Given the description of an element on the screen output the (x, y) to click on. 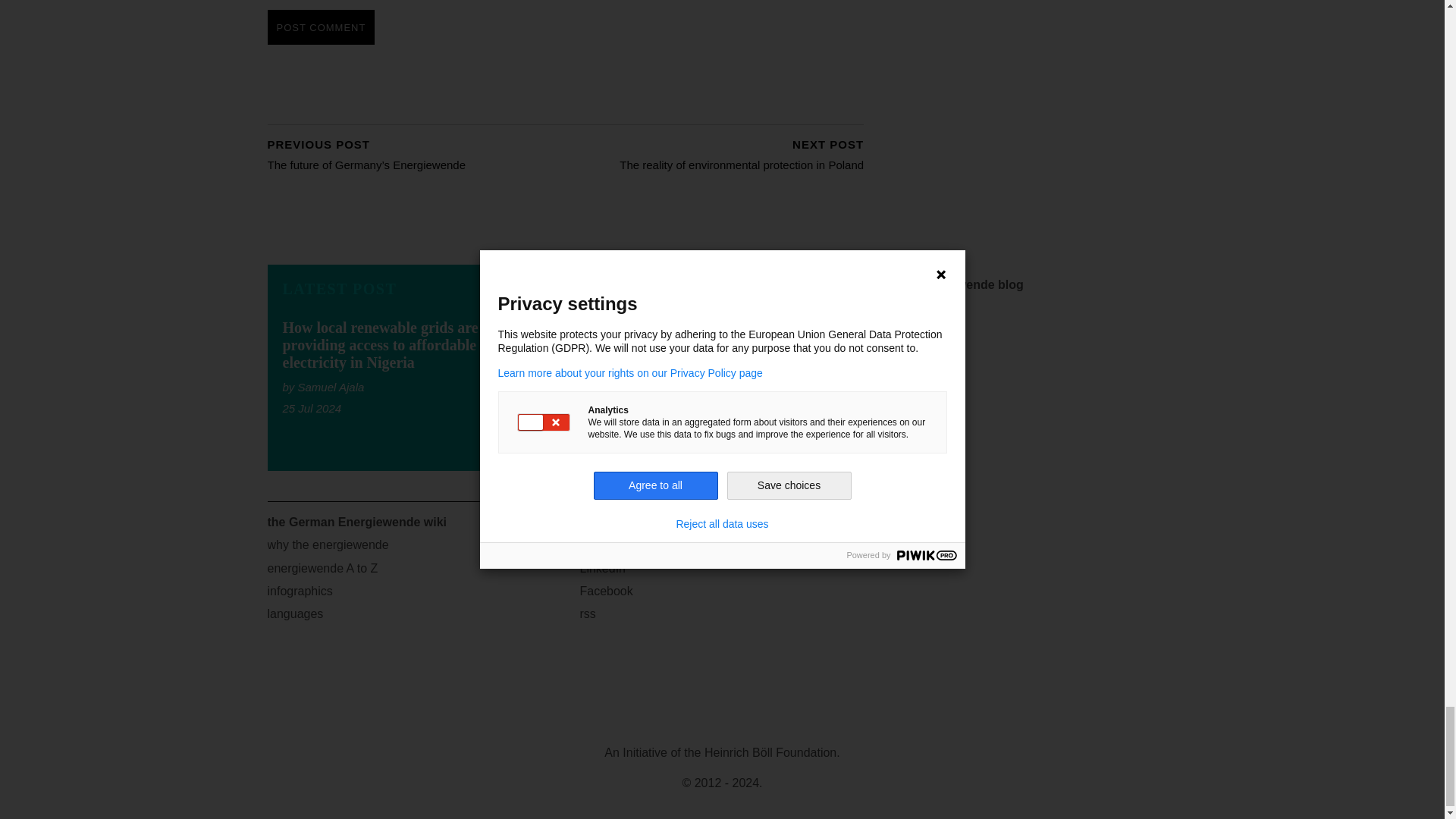
Post Comment (320, 27)
